Given the description of an element on the screen output the (x, y) to click on. 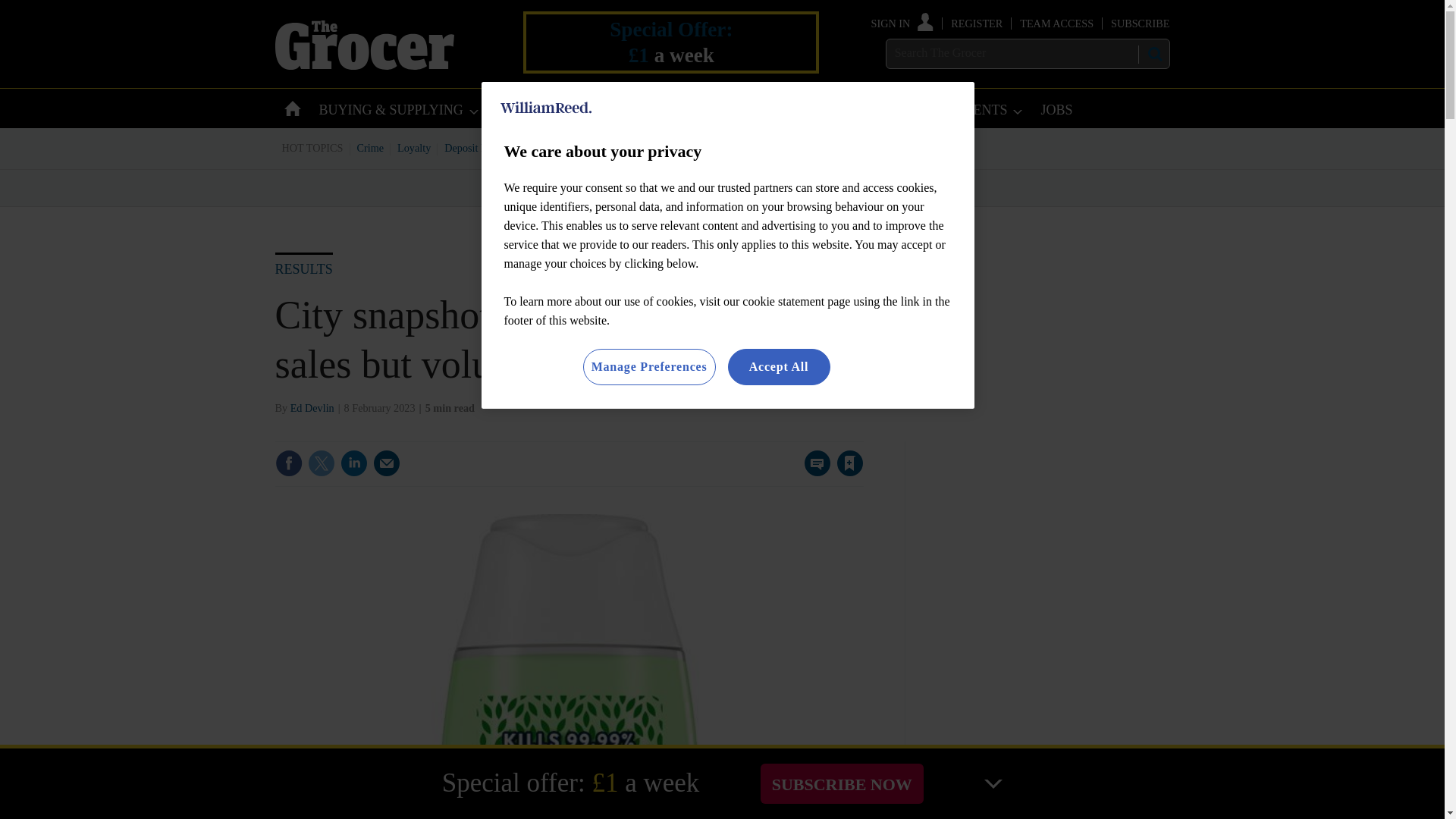
SIGN IN (902, 23)
Share this on Twitter (320, 462)
TEAM ACCESS (1056, 23)
SUBSCRIBE (1139, 23)
Loyalty (414, 147)
William Reed (545, 107)
Deposit Return Schemes (497, 147)
Email this article (386, 462)
KVI price tracker (602, 147)
SEARCH (1153, 53)
Site name (363, 65)
Crime (370, 147)
SUBSCRIBE NOW (841, 783)
Cost of Living Crisis (699, 147)
Vaping (774, 147)
